Given the description of an element on the screen output the (x, y) to click on. 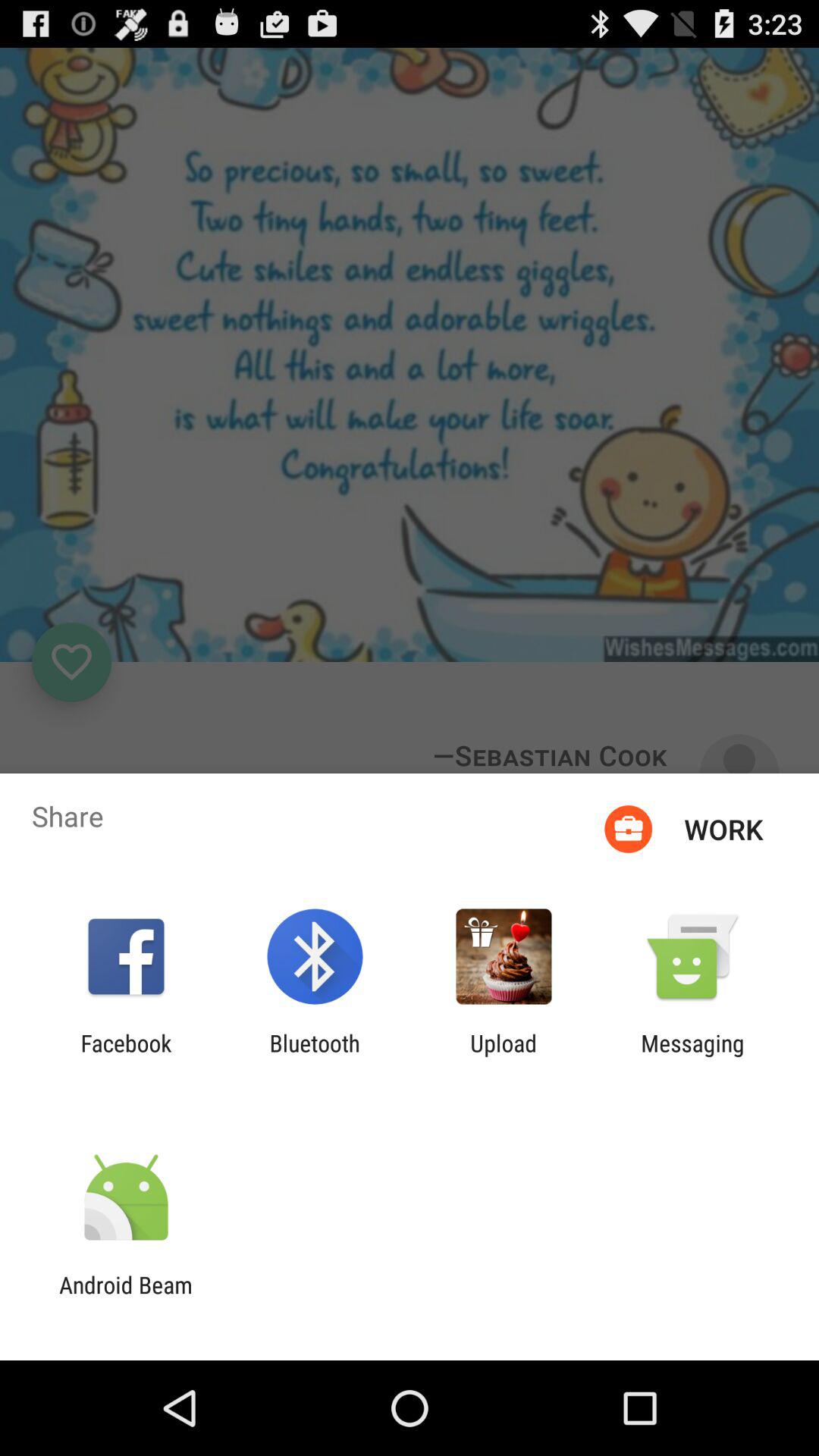
scroll to the facebook (125, 1056)
